Given the description of an element on the screen output the (x, y) to click on. 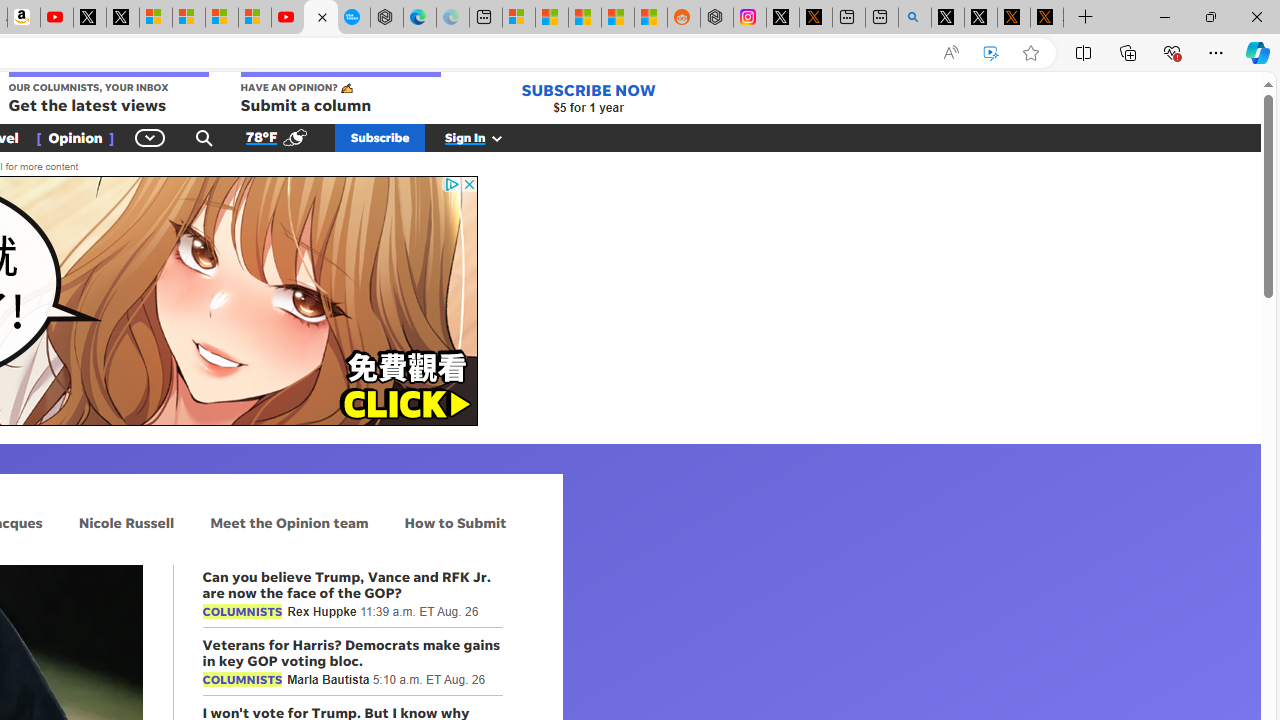
Opinion: Op-Ed and Commentary - USA TODAY (320, 17)
Shanghai, China Weather trends | Microsoft Weather (650, 17)
X Privacy Policy (1046, 17)
Enhance video (991, 53)
Gloom - YouTube (287, 17)
AutomationID: close_button_svg (468, 184)
Shanghai, China hourly forecast | Microsoft Weather (585, 17)
Meet the Opinion team (289, 521)
Class: gnt_n_se_a_svg (204, 137)
GitHub (@github) / X (981, 17)
